Given the description of an element on the screen output the (x, y) to click on. 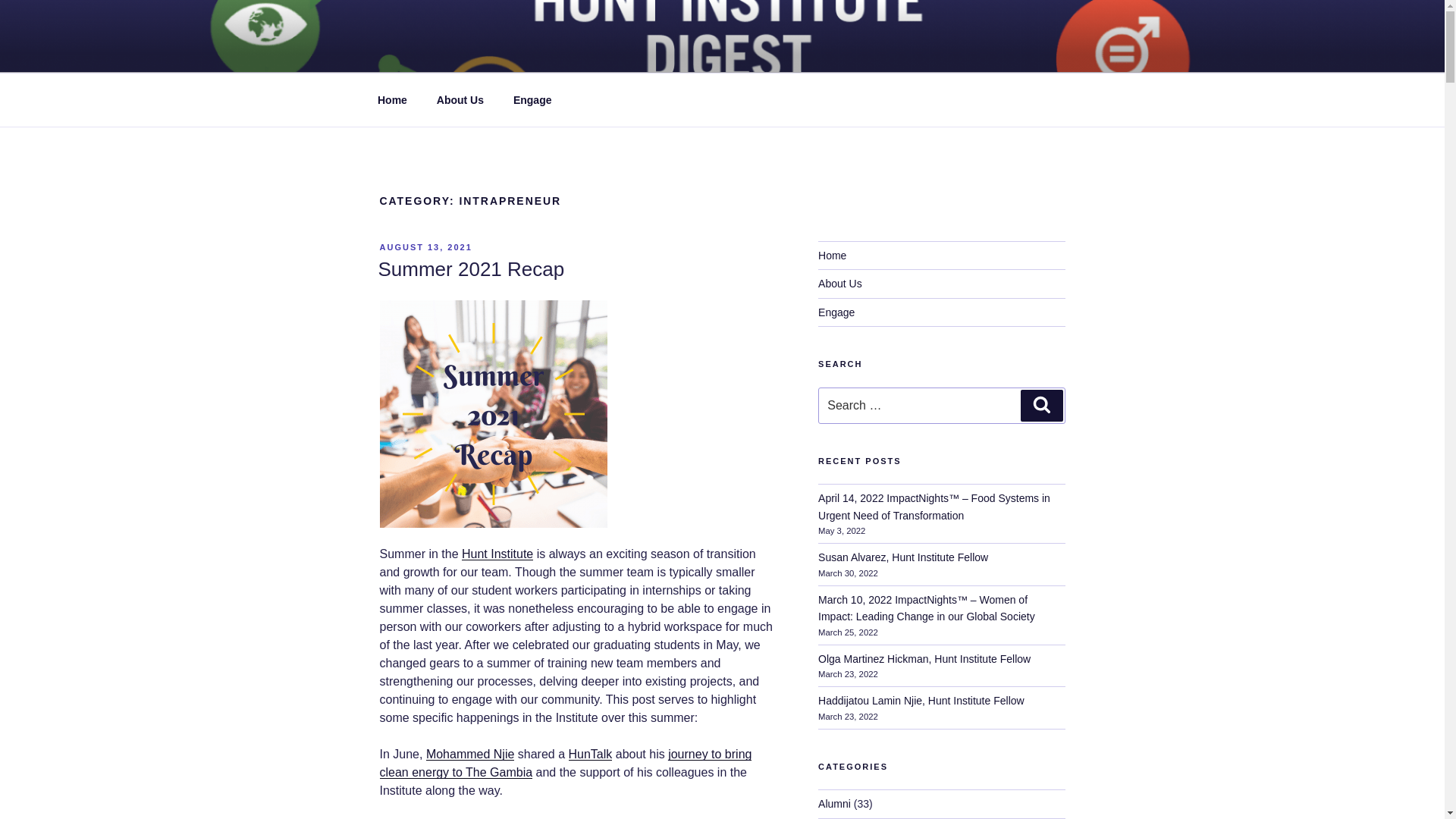
journey to bring clean energy to The Gambia (564, 762)
Home (392, 99)
AUGUST 13, 2021 (424, 246)
Engage (531, 99)
About Us (459, 99)
Hunt Institute (496, 553)
Summer 2021 Recap (470, 268)
Mohammed Njie (469, 753)
HunTalk (590, 753)
